Given the description of an element on the screen output the (x, y) to click on. 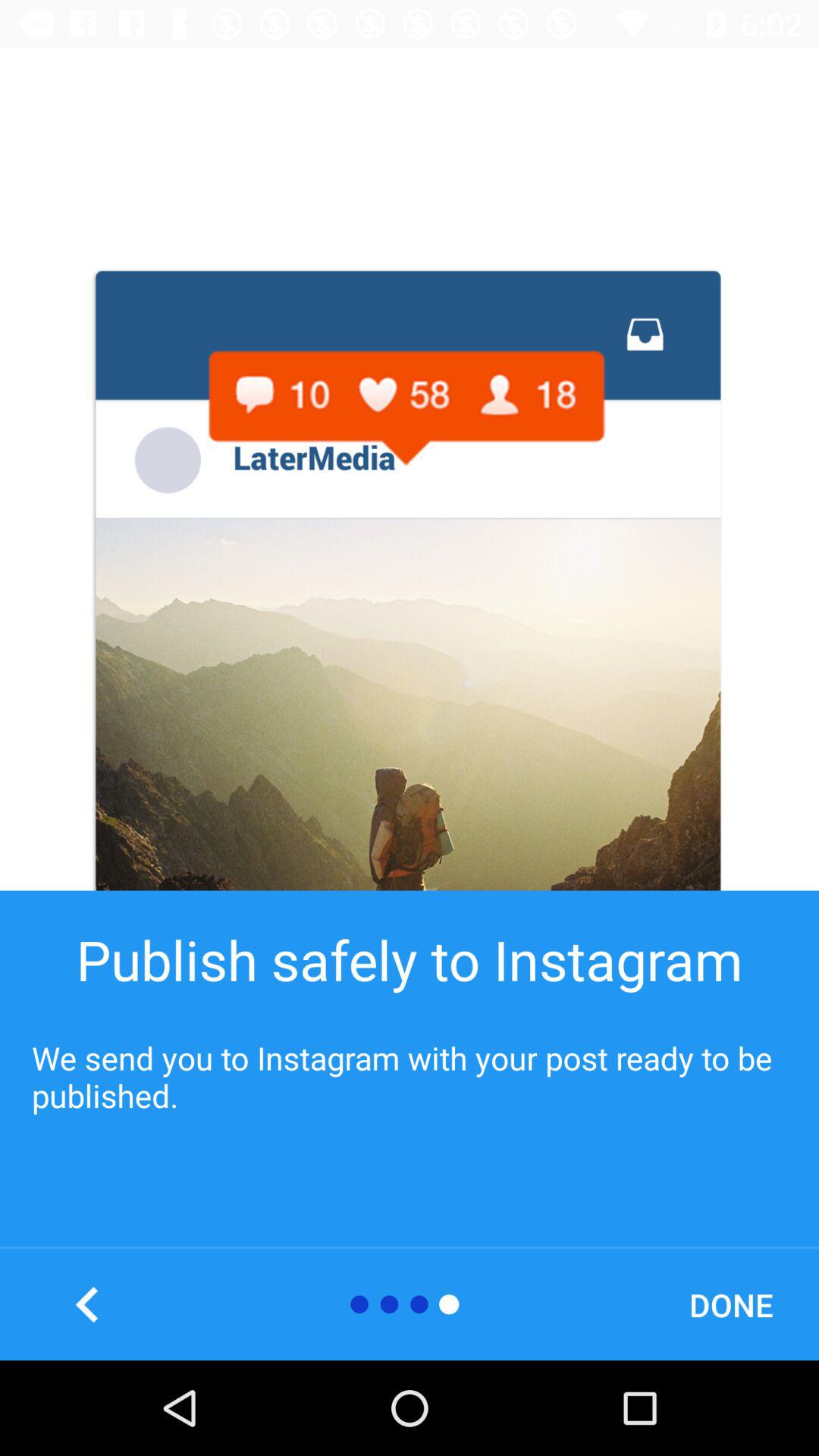
select the item at the bottom left corner (87, 1304)
